Given the description of an element on the screen output the (x, y) to click on. 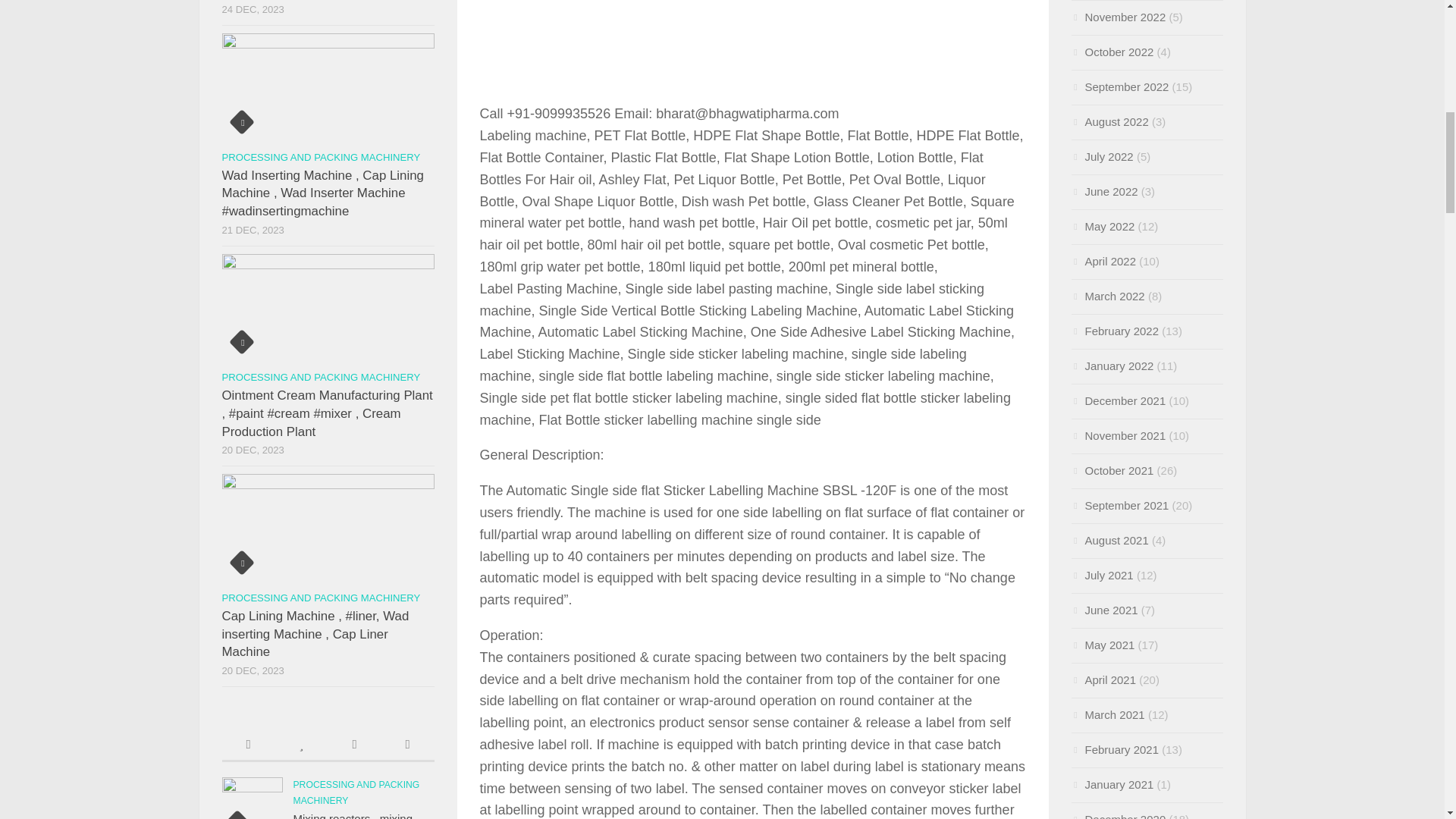
YouTube video player (752, 48)
